Given the description of an element on the screen output the (x, y) to click on. 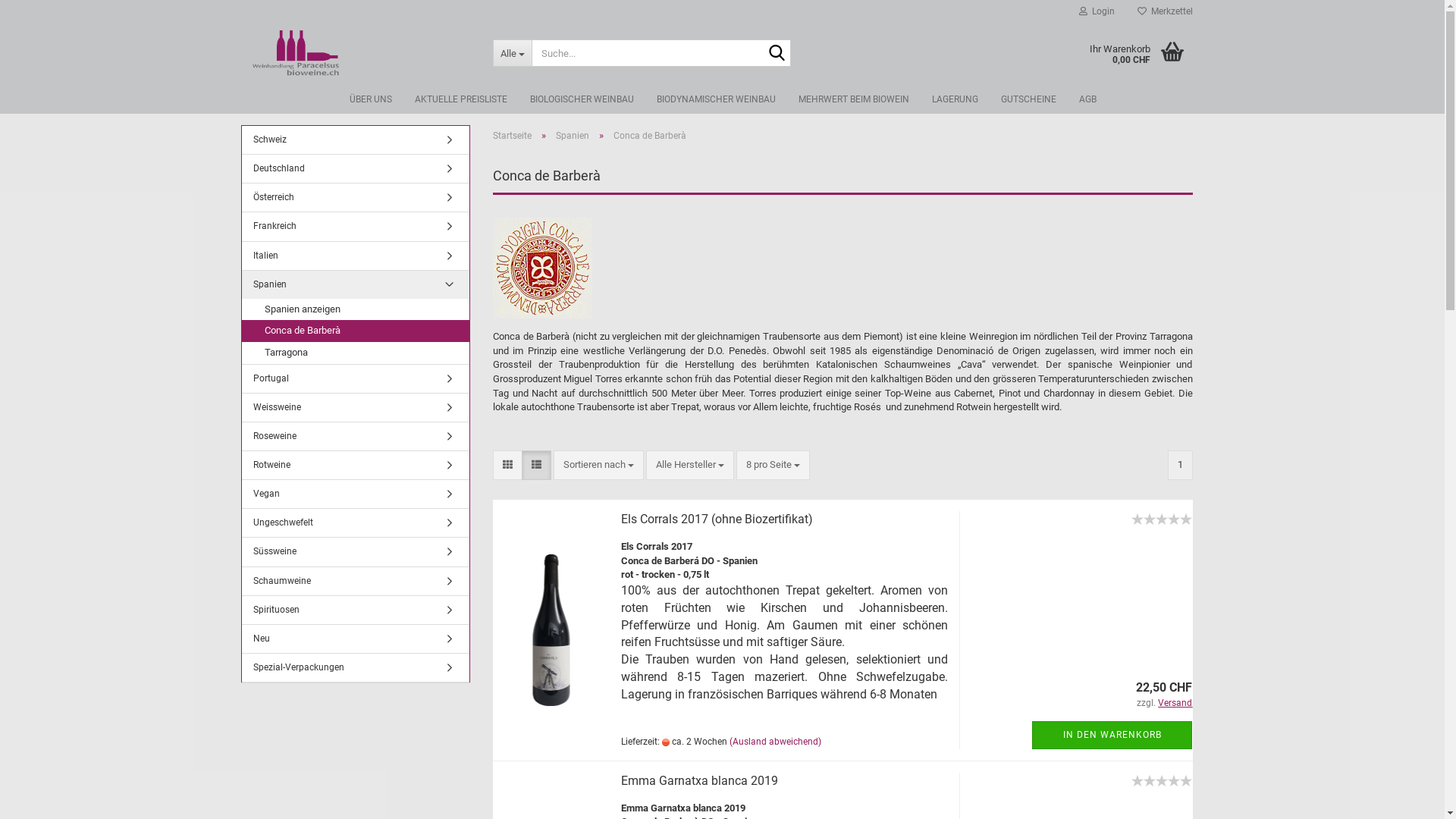
Italien Element type: text (355, 255)
Spanien Element type: text (572, 135)
Els Corrals 2017 (ohne Biozertifikat) Element type: text (716, 518)
Bisher wurden keine Rezensionen zu diesem Produkt abgegeben Element type: hover (1161, 778)
Startseite Element type: text (511, 135)
Anmelden Element type: text (1013, 185)
IN DEN WARENKORB Element type: text (1112, 735)
Ungeschwefelt Element type: text (355, 522)
Spirituosen Element type: text (355, 610)
Versand Element type: text (1174, 702)
 Merkzettel Element type: text (1164, 11)
Rotweine Element type: text (355, 465)
Alle Hersteller Element type: text (690, 465)
Vegan Element type: text (355, 494)
Schweiz Element type: text (355, 139)
BIOLOGISCHER WEINBAU Element type: text (581, 98)
Alle Element type: text (511, 52)
Tarragona Element type: text (355, 353)
Emma Garnatxa blanca 2019 Element type: text (699, 780)
Spanien Element type: text (355, 284)
Deutschland Element type: text (355, 168)
Weissweine Element type: text (355, 407)
GUTSCHEINE Element type: text (1028, 98)
Frankreich Element type: text (355, 226)
ca. 2 Wochen Element type: hover (665, 742)
Bisher wurden keine Rezensionen zu diesem Produkt abgegeben Element type: hover (1161, 517)
Weinhandlung Paracelsus Element type: hover (360, 52)
Schaumweine Element type: text (355, 581)
AKTUELLE PREISLISTE Element type: text (460, 98)
(Ausland abweichend) Element type: text (775, 741)
8 pro Seite Element type: text (772, 465)
Ihr Warenkorb
0,00 CHF Element type: text (1123, 52)
Roseweine Element type: text (355, 436)
 Login Element type: text (1096, 11)
Emma Garnatxa blanca 2019 Element type: hover (1161, 788)
Neu Element type: text (355, 638)
LAGERUNG Element type: text (954, 98)
Spezial-Verpackungen Element type: text (355, 667)
Els Corrals 2017 (ohne Biozertifikat) Element type: hover (1161, 527)
Sortieren nach Element type: text (598, 465)
BIODYNAMISCHER WEINBAU Element type: text (716, 98)
Spanien anzeigen Element type: text (355, 309)
AGB Element type: text (1087, 98)
Portugal Element type: text (355, 378)
MEHRWERT BEIM BIOWEIN Element type: text (853, 98)
